Given the description of an element on the screen output the (x, y) to click on. 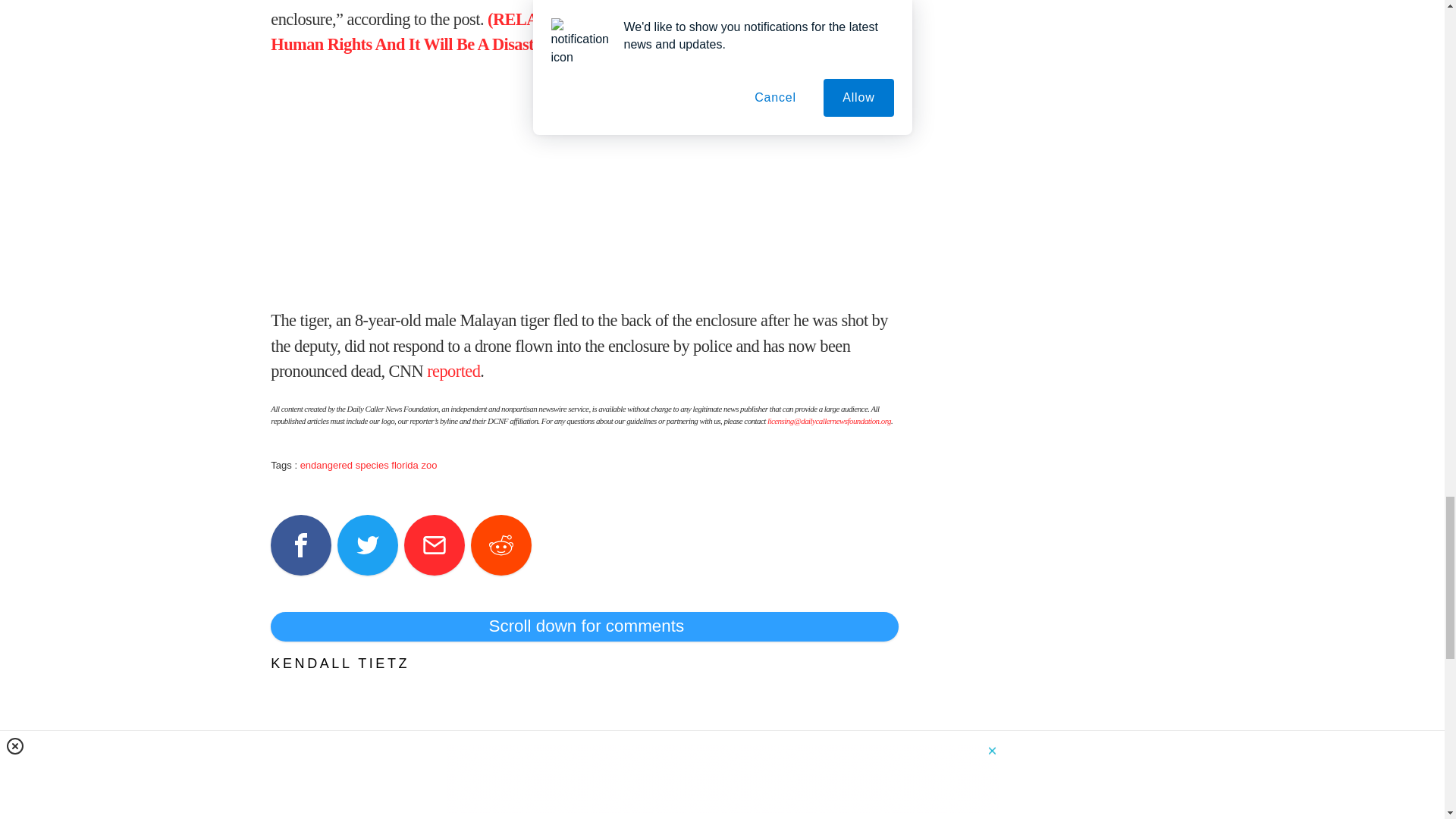
3rd party ad content (584, 182)
Scroll down for comments (584, 625)
